Given the description of an element on the screen output the (x, y) to click on. 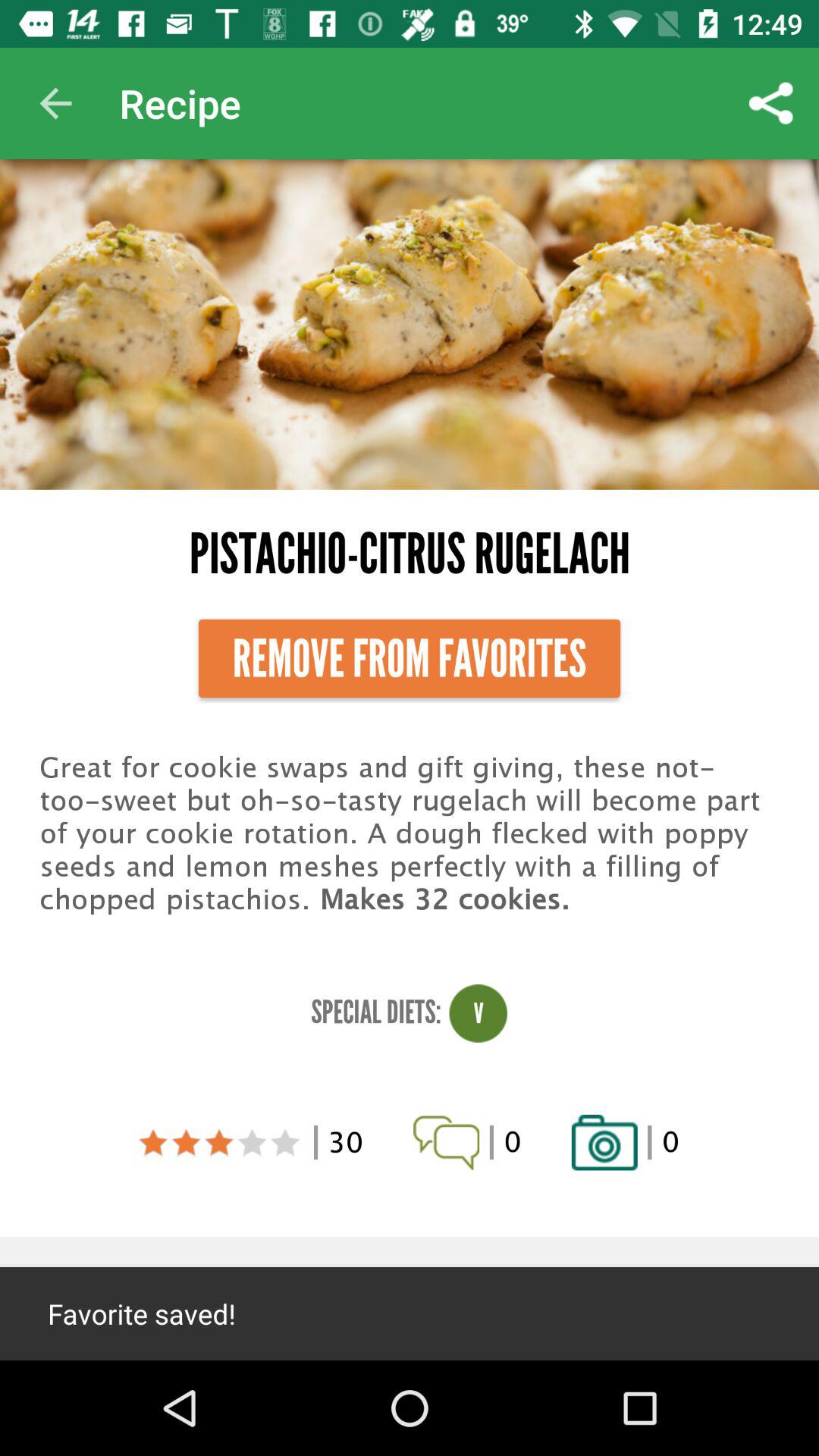
launch the item below the pistachio-citrus rugelach item (409, 658)
